Given the description of an element on the screen output the (x, y) to click on. 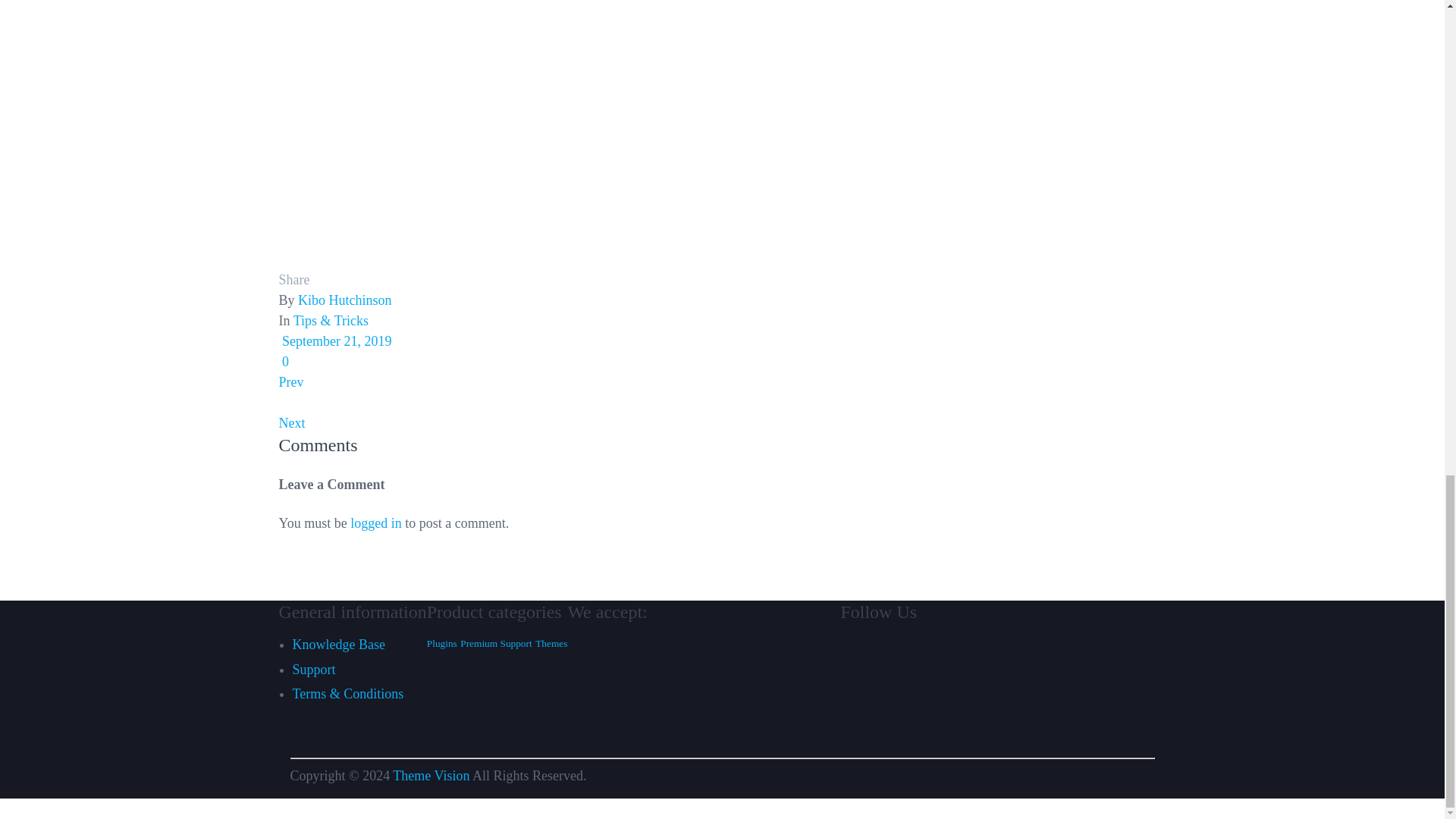
0 (284, 361)
